Given the description of an element on the screen output the (x, y) to click on. 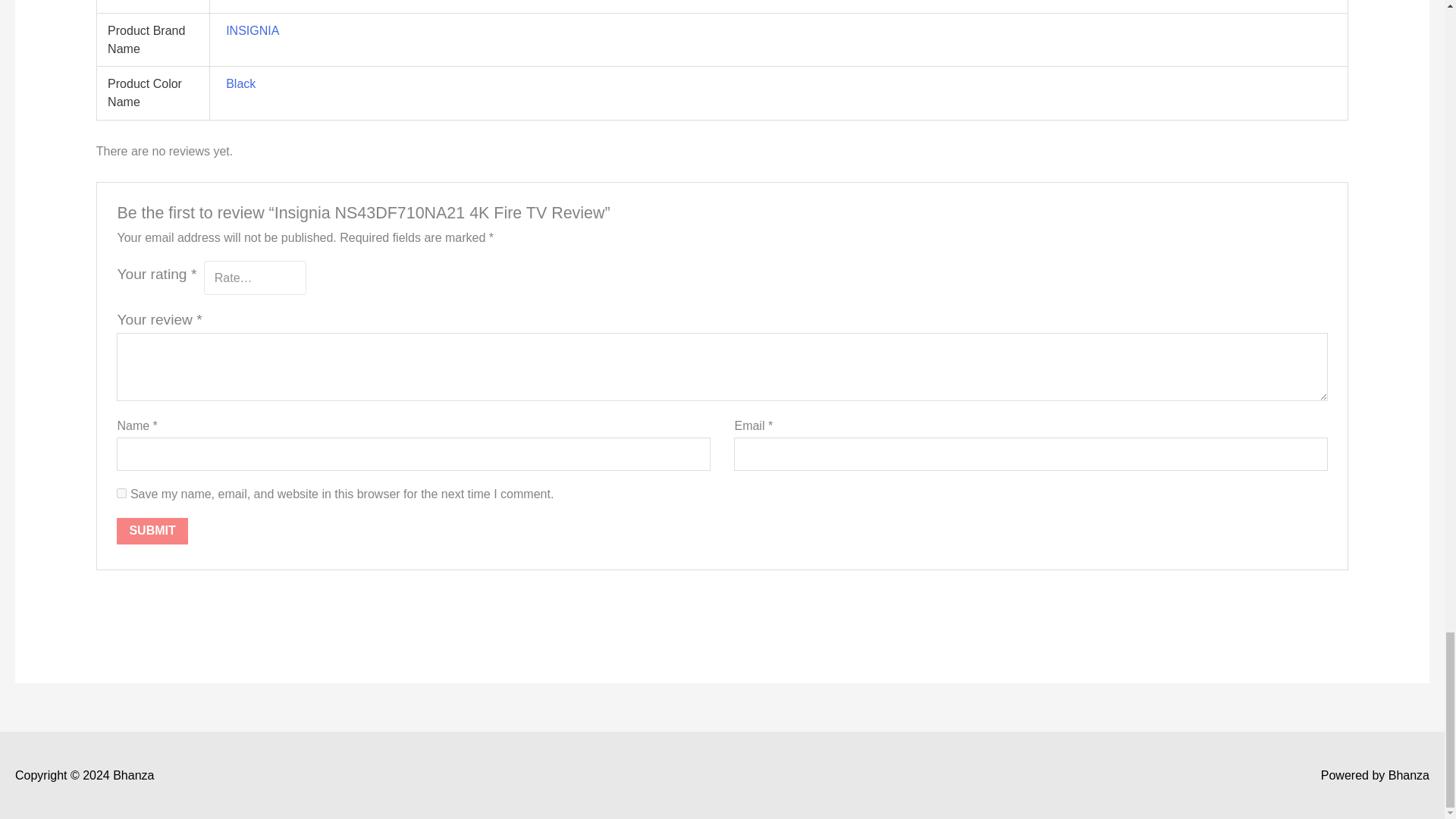
Submit (151, 530)
Black (240, 83)
INSIGNIA (252, 30)
yes (121, 492)
Submit (151, 530)
